Given the description of an element on the screen output the (x, y) to click on. 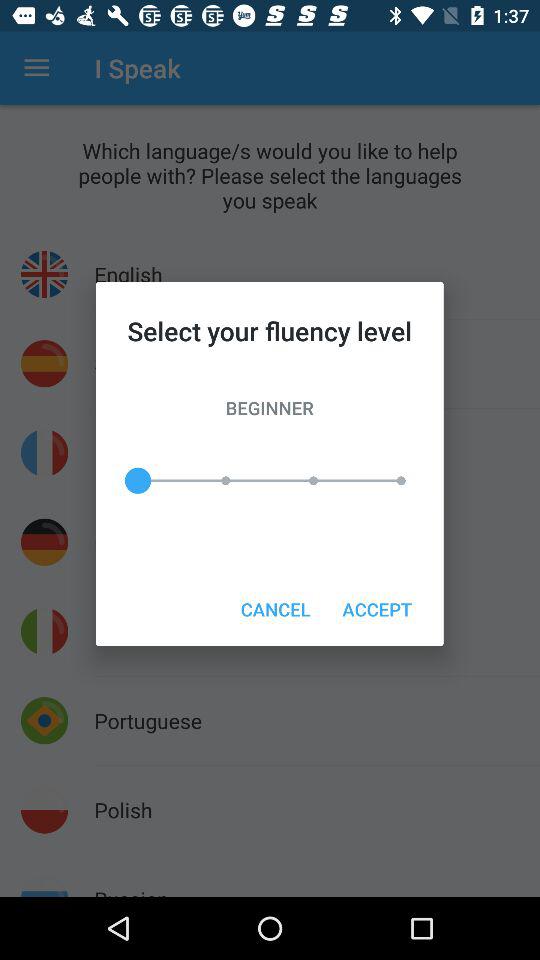
select icon on the right (376, 608)
